Given the description of an element on the screen output the (x, y) to click on. 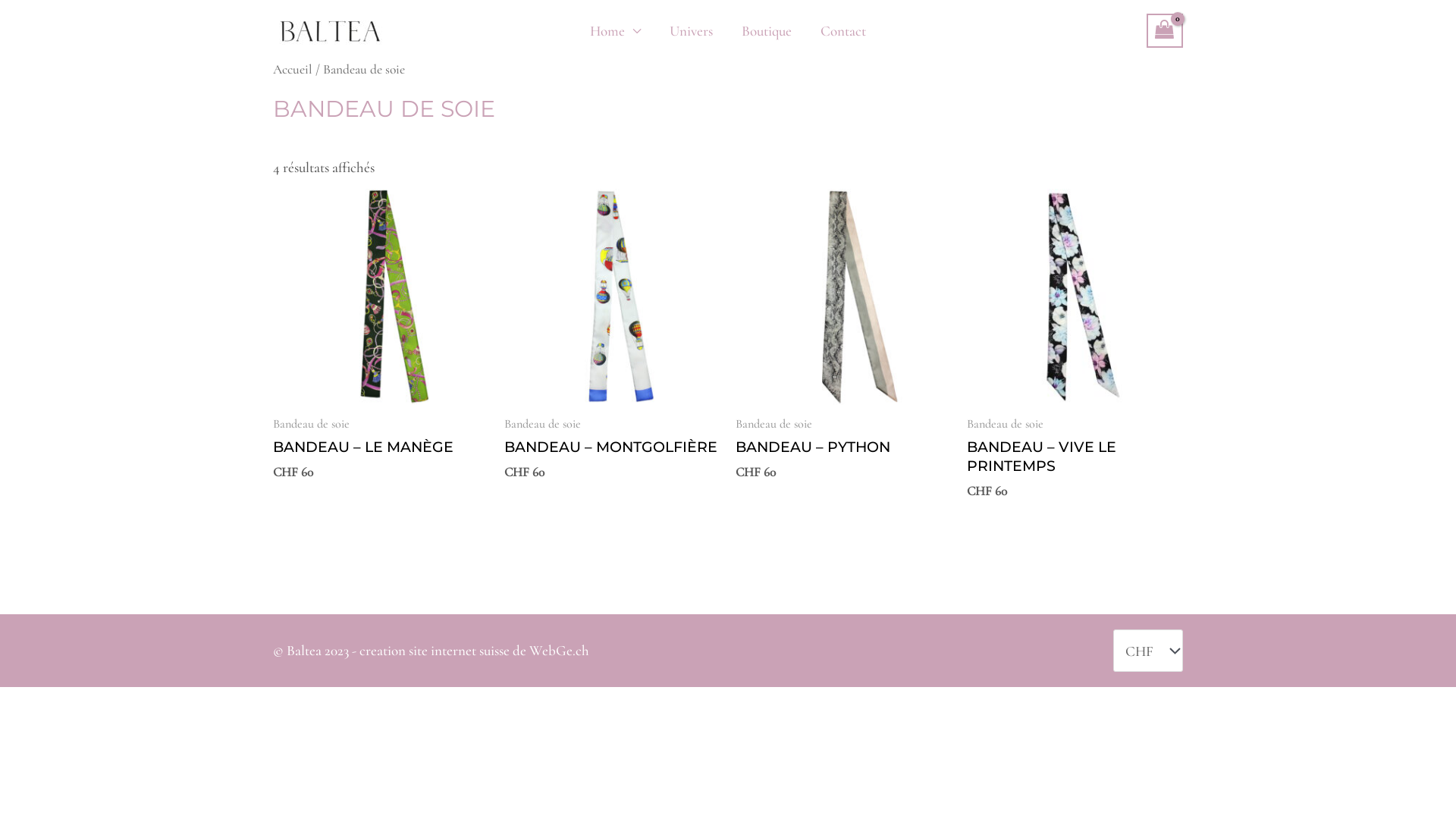
creation site internet suisse Element type: text (434, 649)
Accueil Element type: text (292, 69)
Contact Element type: text (843, 30)
Univers Element type: text (691, 30)
Home Element type: text (615, 30)
Boutique Element type: text (766, 30)
